Given the description of an element on the screen output the (x, y) to click on. 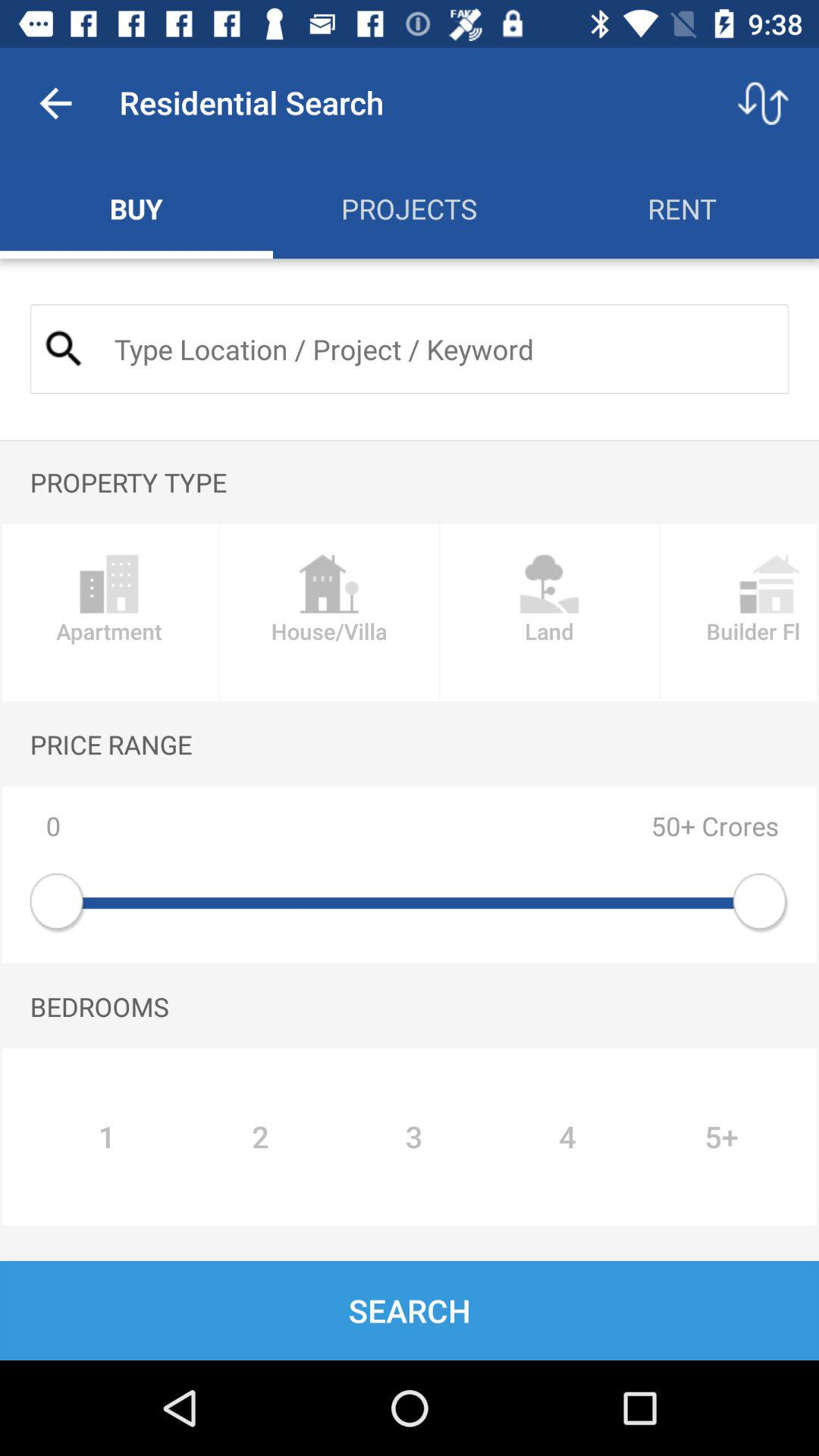
search widget (438, 349)
